Given the description of an element on the screen output the (x, y) to click on. 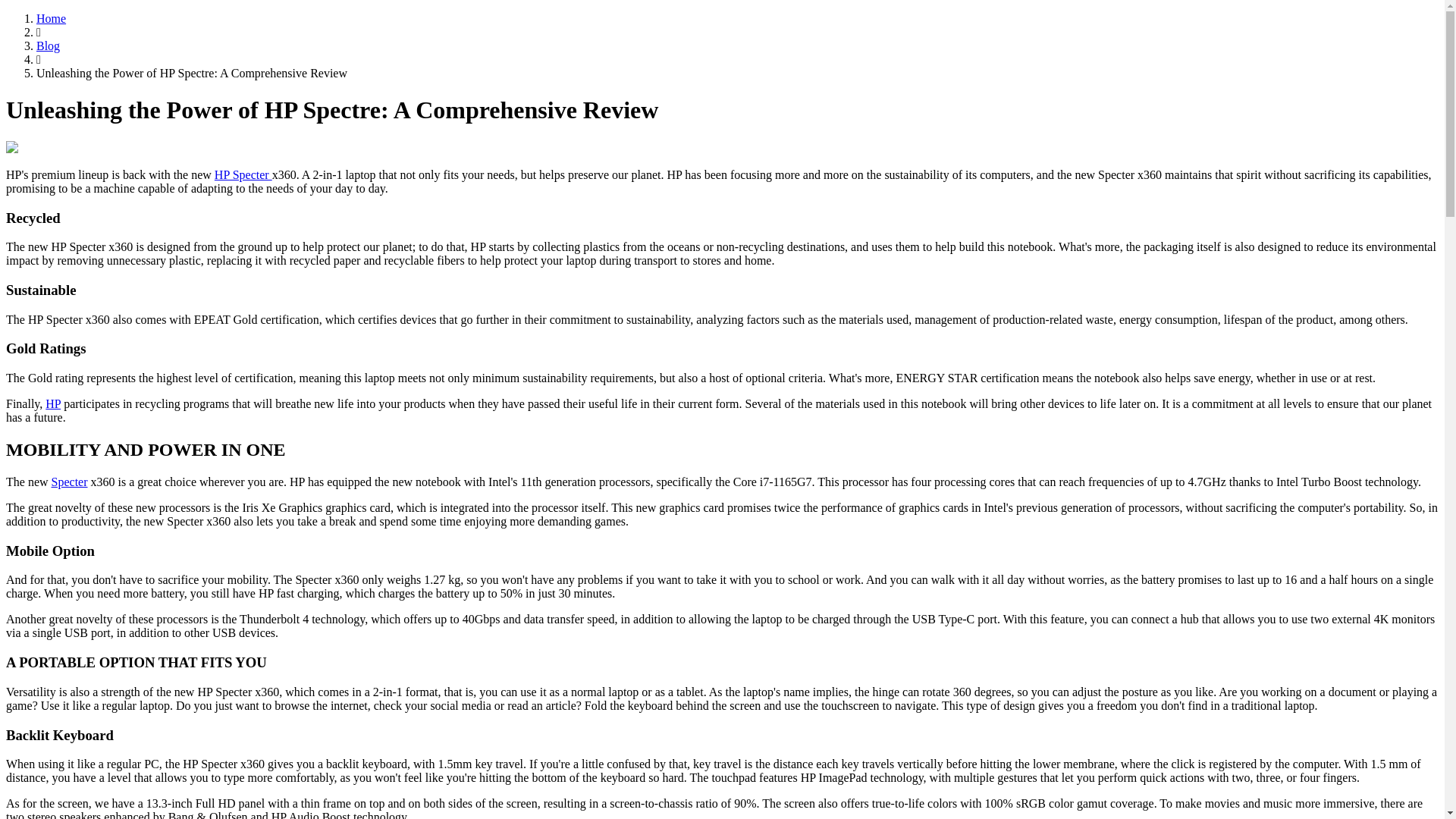
HP Specter (243, 174)
HP (53, 403)
Specter (68, 481)
Blog (47, 45)
Home (50, 18)
